Given the description of an element on the screen output the (x, y) to click on. 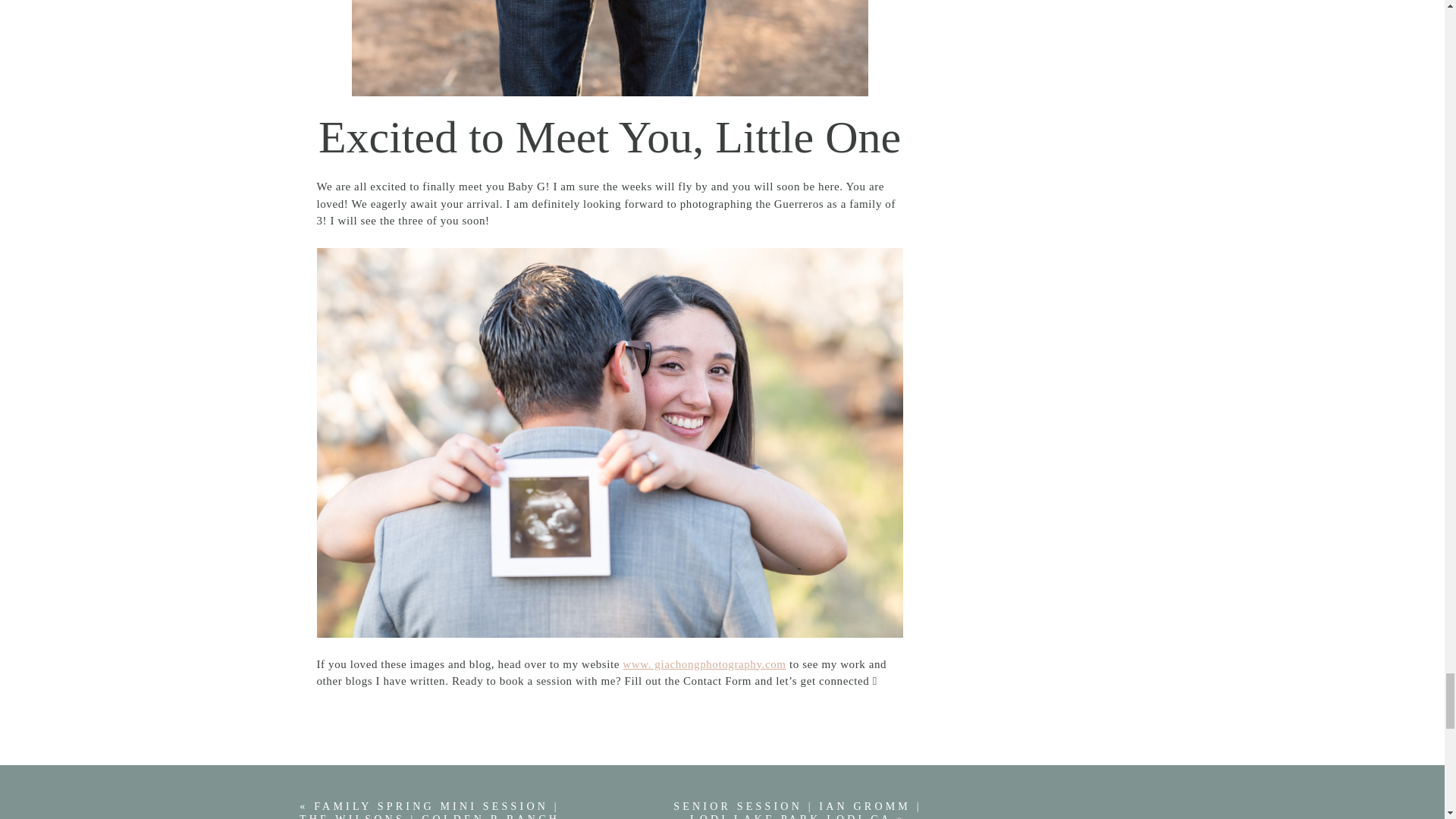
www. giachongphotography.com (704, 664)
